Given the description of an element on the screen output the (x, y) to click on. 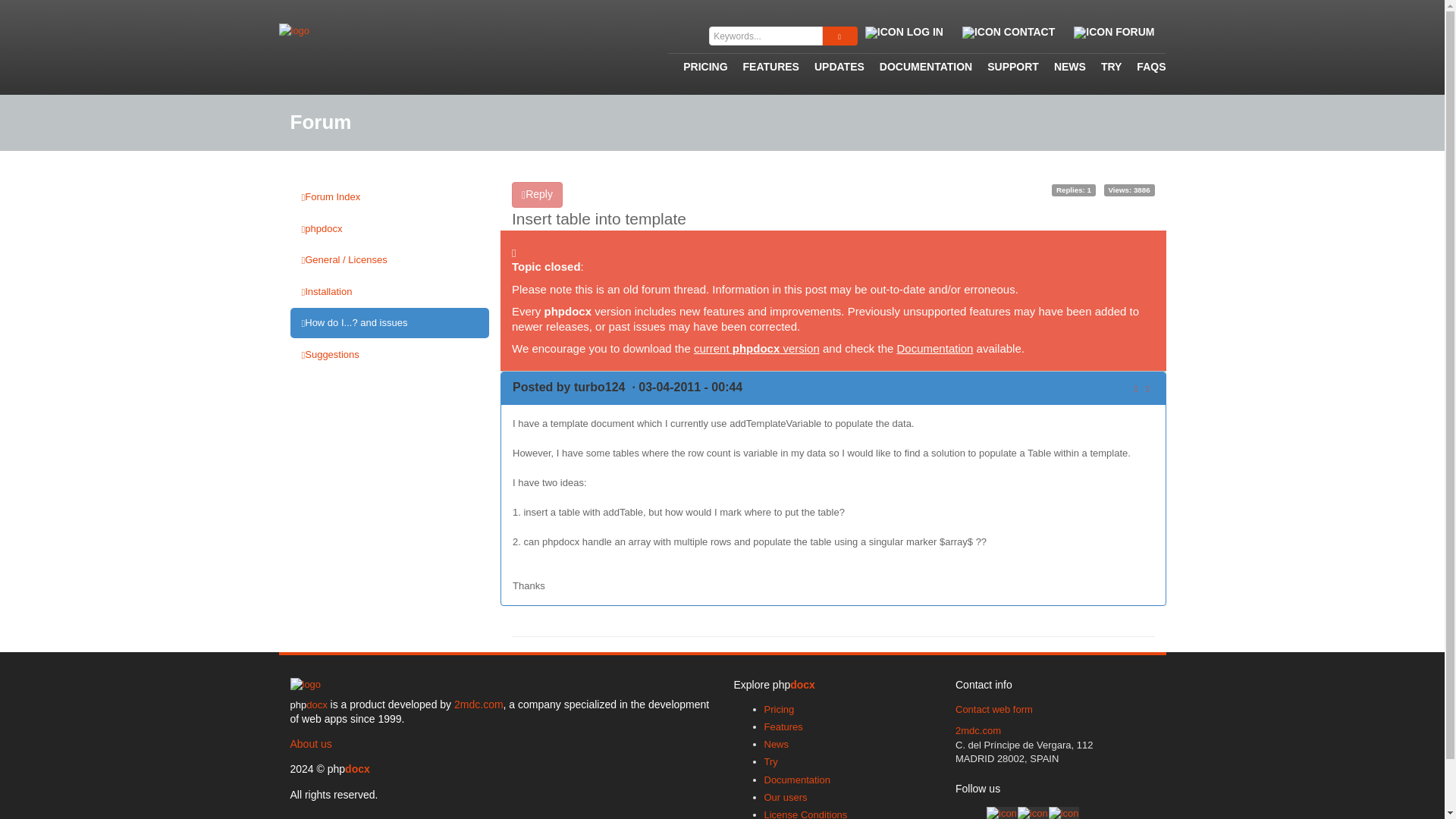
How do I...? and issues (389, 322)
Suggestions (389, 354)
Try (770, 761)
TRY (1103, 72)
Home (304, 686)
CONTACT (1010, 32)
Documentation (935, 348)
How do I...? and issues (389, 322)
FEATURES (763, 72)
Reply (537, 194)
NEWS (1062, 72)
Forum Index (389, 196)
About us (310, 743)
Pricing (779, 708)
FORUM (1115, 32)
